Given the description of an element on the screen output the (x, y) to click on. 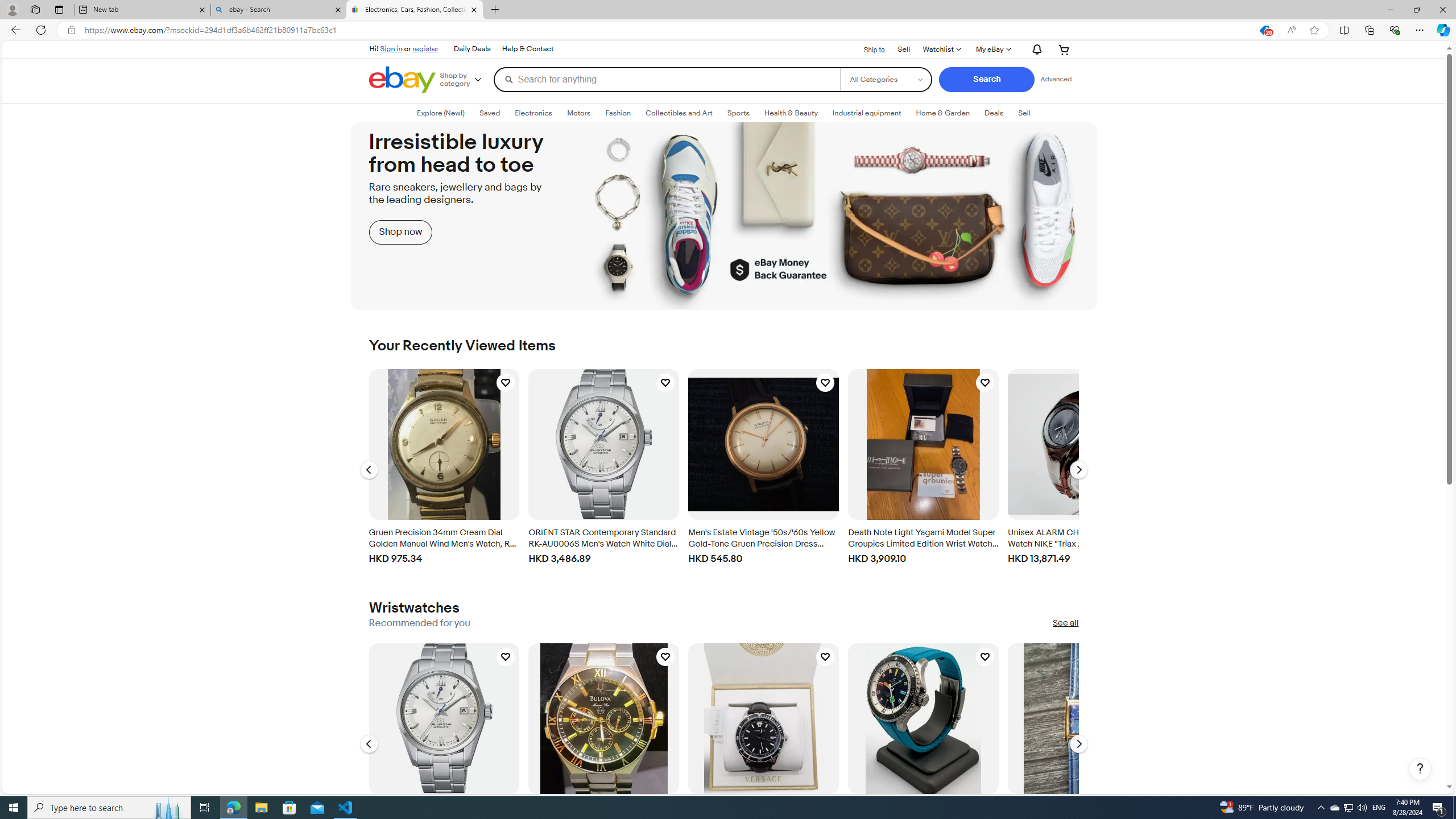
Electronics, Cars, Fashion, Collectibles & More | eBay (414, 9)
This site has coupons! Shopping in Microsoft Edge, 20 (1263, 29)
